Given the description of an element on the screen output the (x, y) to click on. 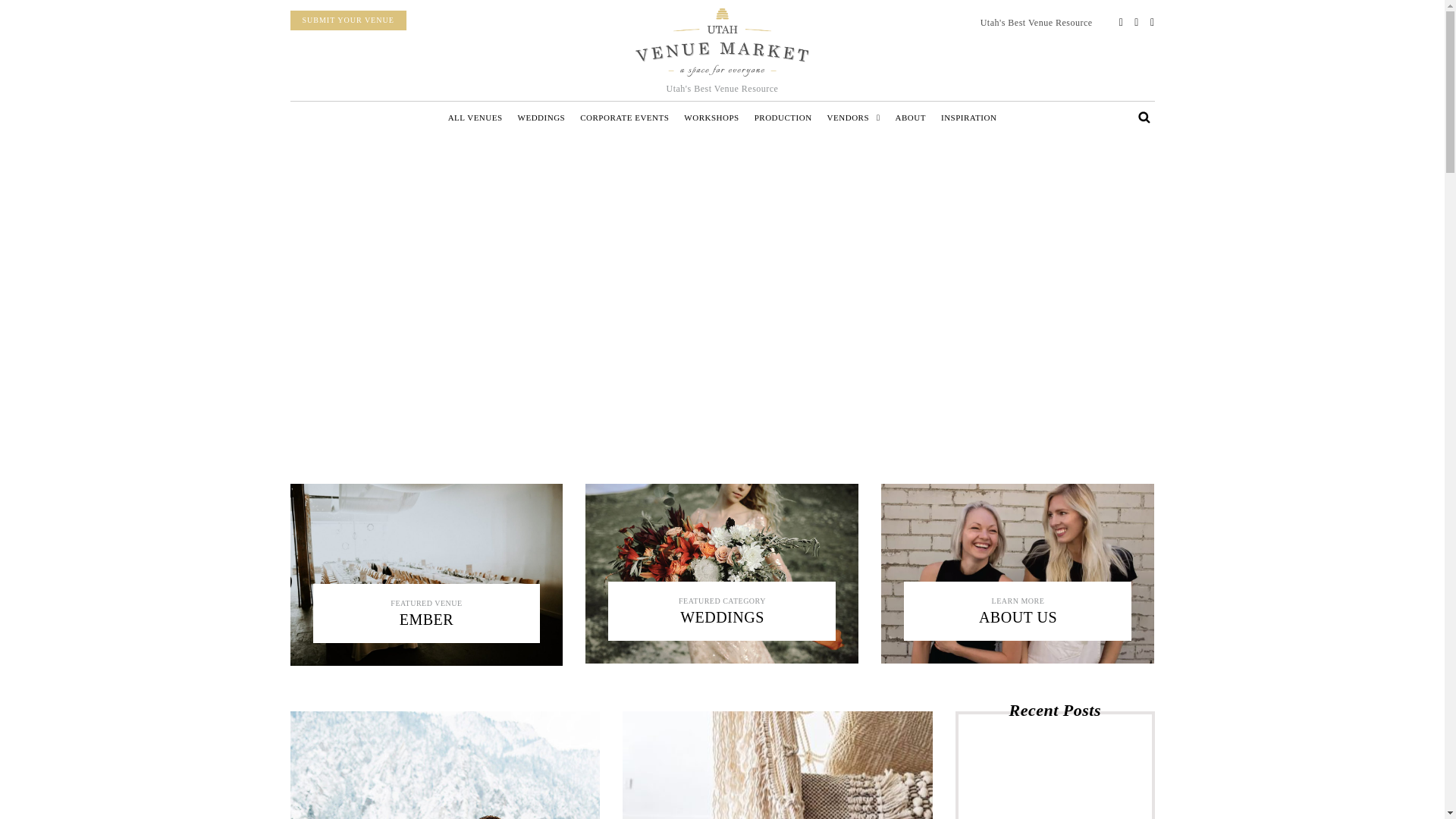
WEDDINGS (721, 617)
WORKSHOPS (711, 117)
SUBMIT YOUR VENUE (347, 20)
EMBER (425, 619)
INSPIRATION (968, 117)
CORPORATE EVENTS (624, 117)
VENDORS (853, 117)
PRODUCTION (782, 117)
ALL VENUES (476, 117)
ABOUT (910, 117)
